Given the description of an element on the screen output the (x, y) to click on. 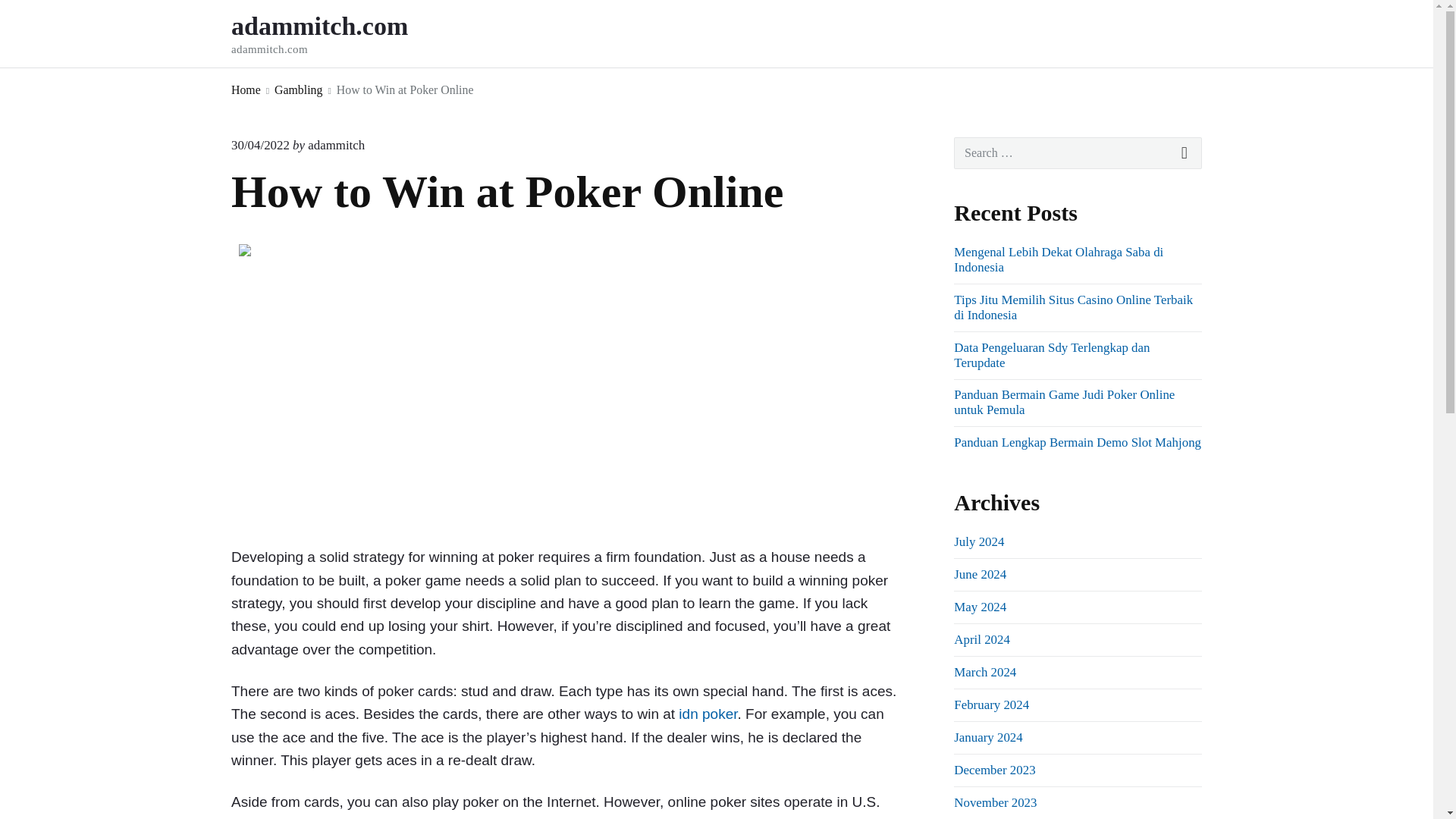
June 2024 (979, 574)
January 2024 (987, 737)
Posts by adammitch (336, 145)
SEARCH (1184, 152)
Saturday, April 30, 2022, 8:41 am (260, 145)
Data Pengeluaran Sdy Terlengkap dan Terupdate (1051, 355)
Gambling (298, 89)
Mengenal Lebih Dekat Olahraga Saba di Indonesia (1058, 259)
July 2024 (978, 541)
Panduan Bermain Game Judi Poker Online untuk Pemula (1063, 401)
Search for: (1077, 152)
May 2024 (979, 606)
Tips Jitu Memilih Situs Casino Online Terbaik di Indonesia (1072, 307)
February 2024 (991, 704)
